Given the description of an element on the screen output the (x, y) to click on. 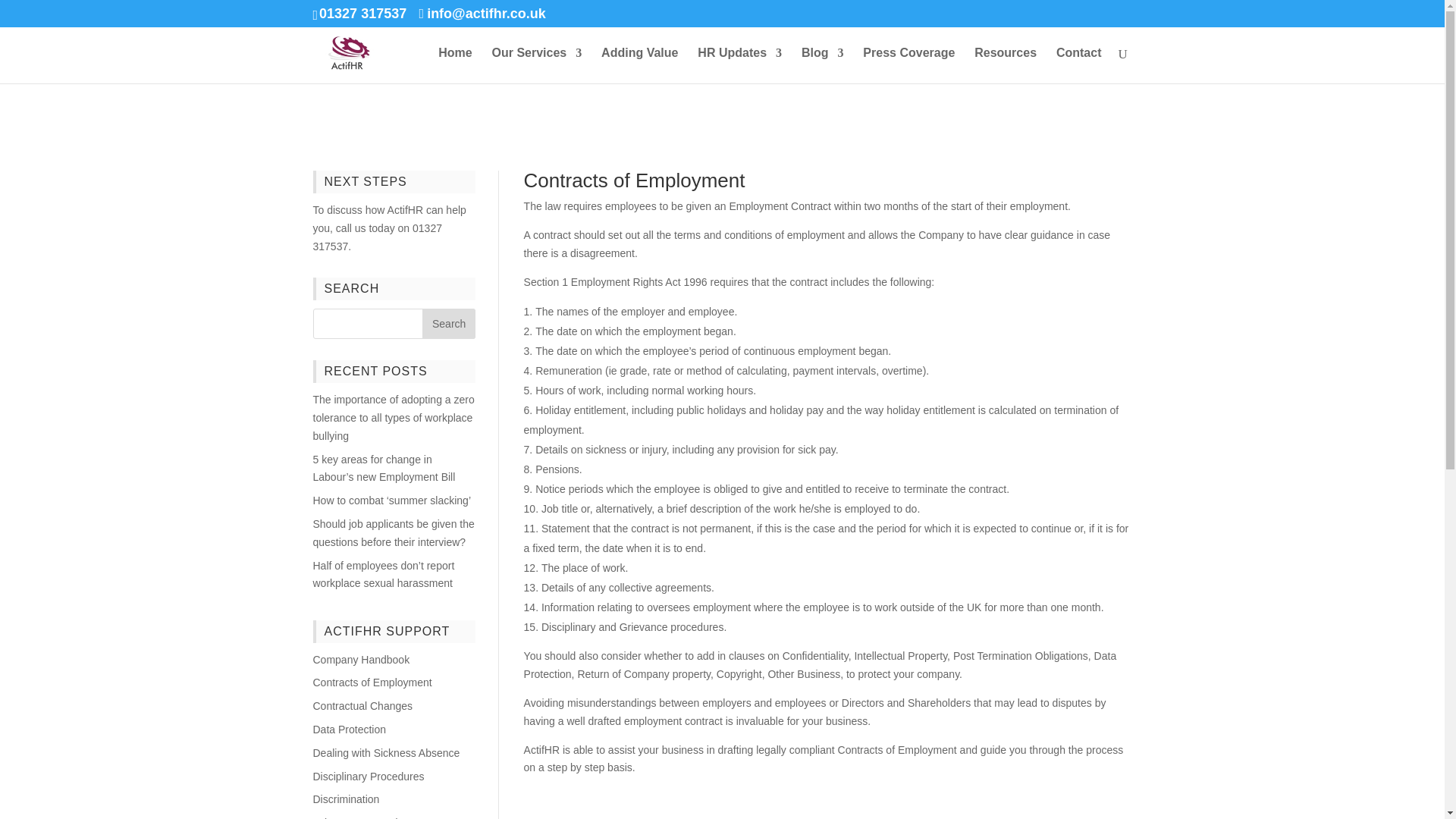
HR Updates (739, 65)
Home (454, 65)
Our Services (536, 65)
Adding Value (639, 65)
Search (449, 323)
